Given the description of an element on the screen output the (x, y) to click on. 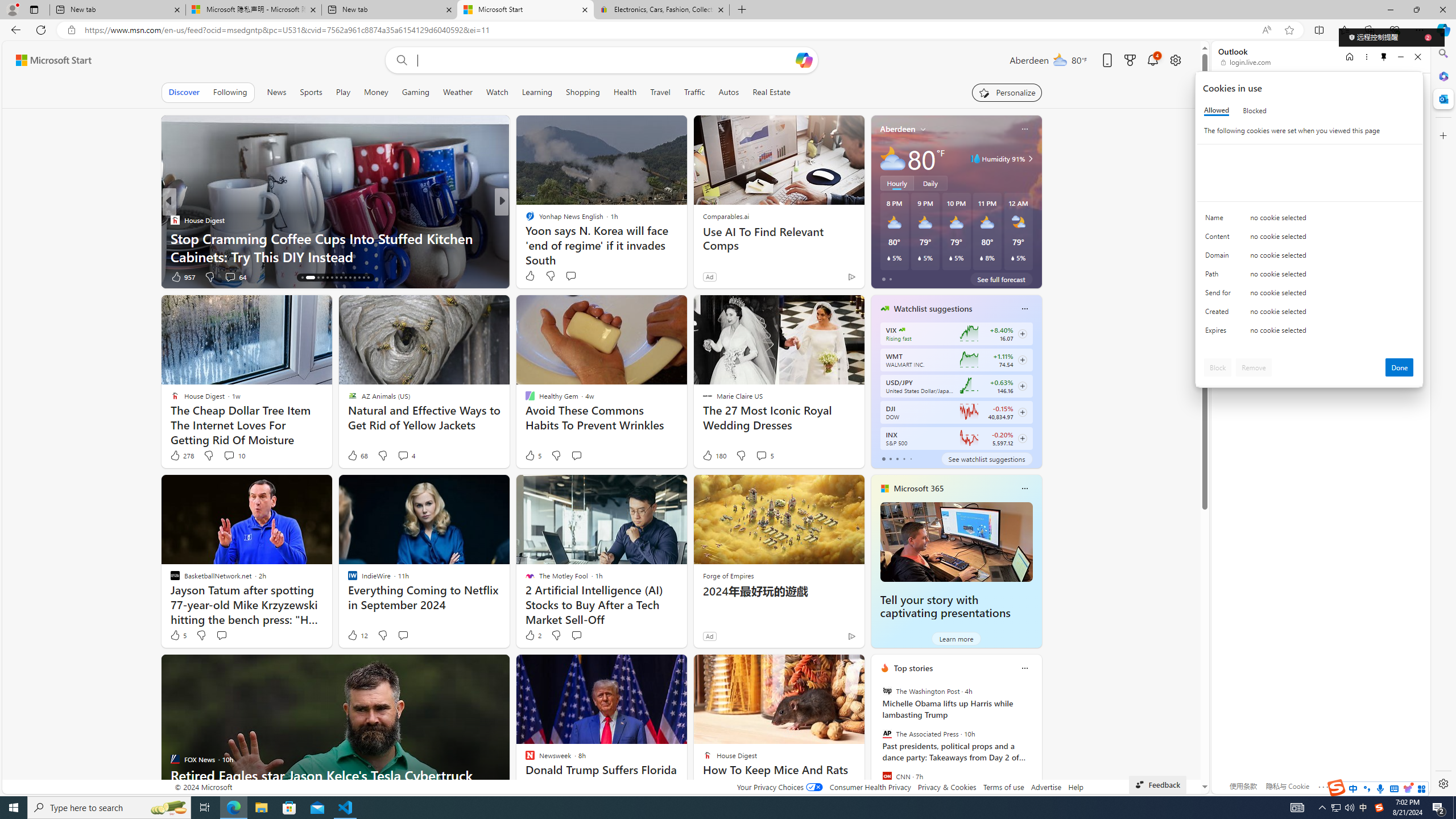
Name (1219, 220)
Daily (929, 183)
login.live.com (1246, 61)
View comments 7 Comment (580, 276)
View comments 64 Comment (229, 276)
View comments 5 Comment (764, 455)
AutomationID: tab-25 (354, 277)
